Given the description of an element on the screen output the (x, y) to click on. 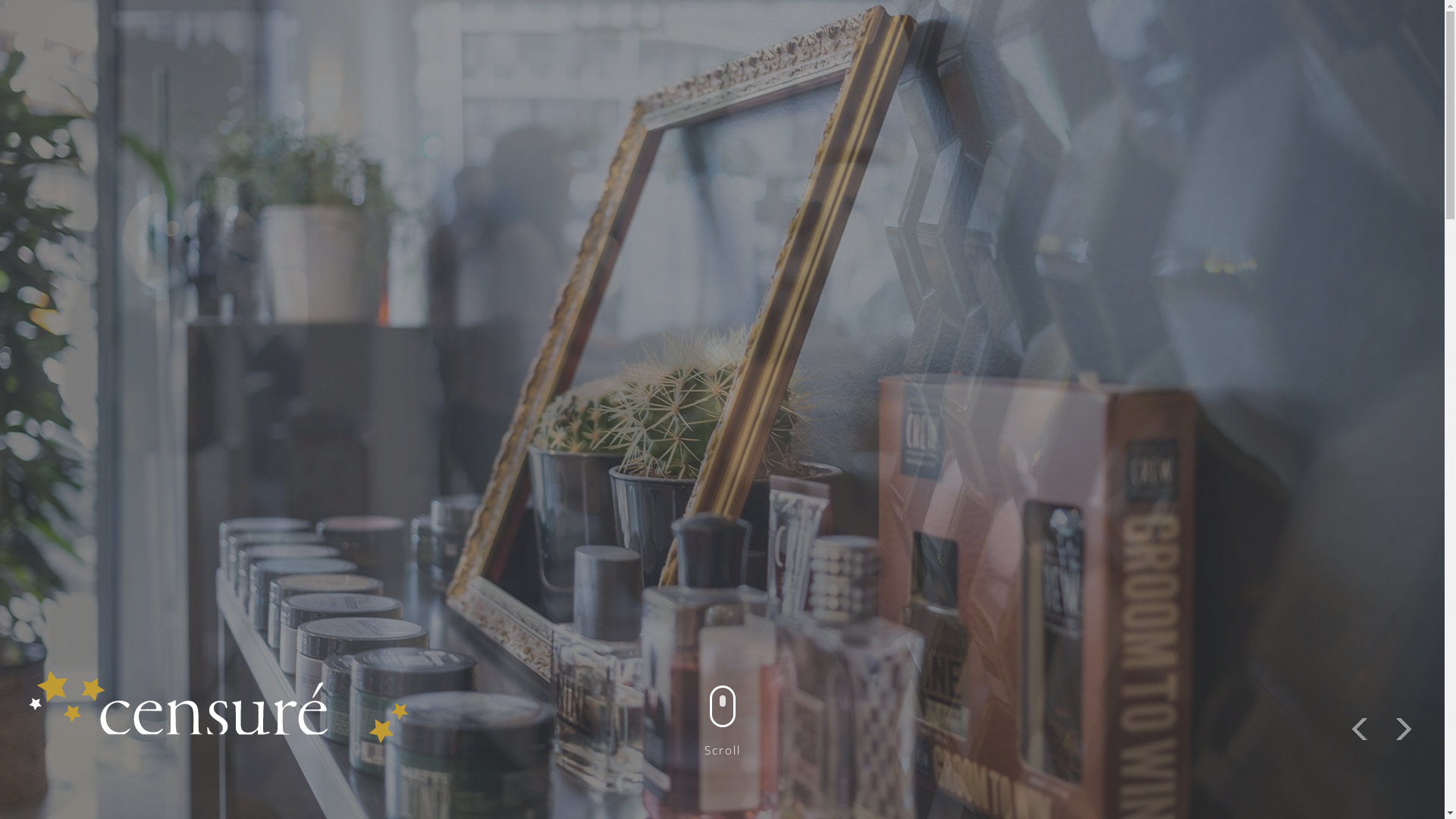
Previous Element type: text (1360, 731)
Next Element type: text (1402, 731)
